Given the description of an element on the screen output the (x, y) to click on. 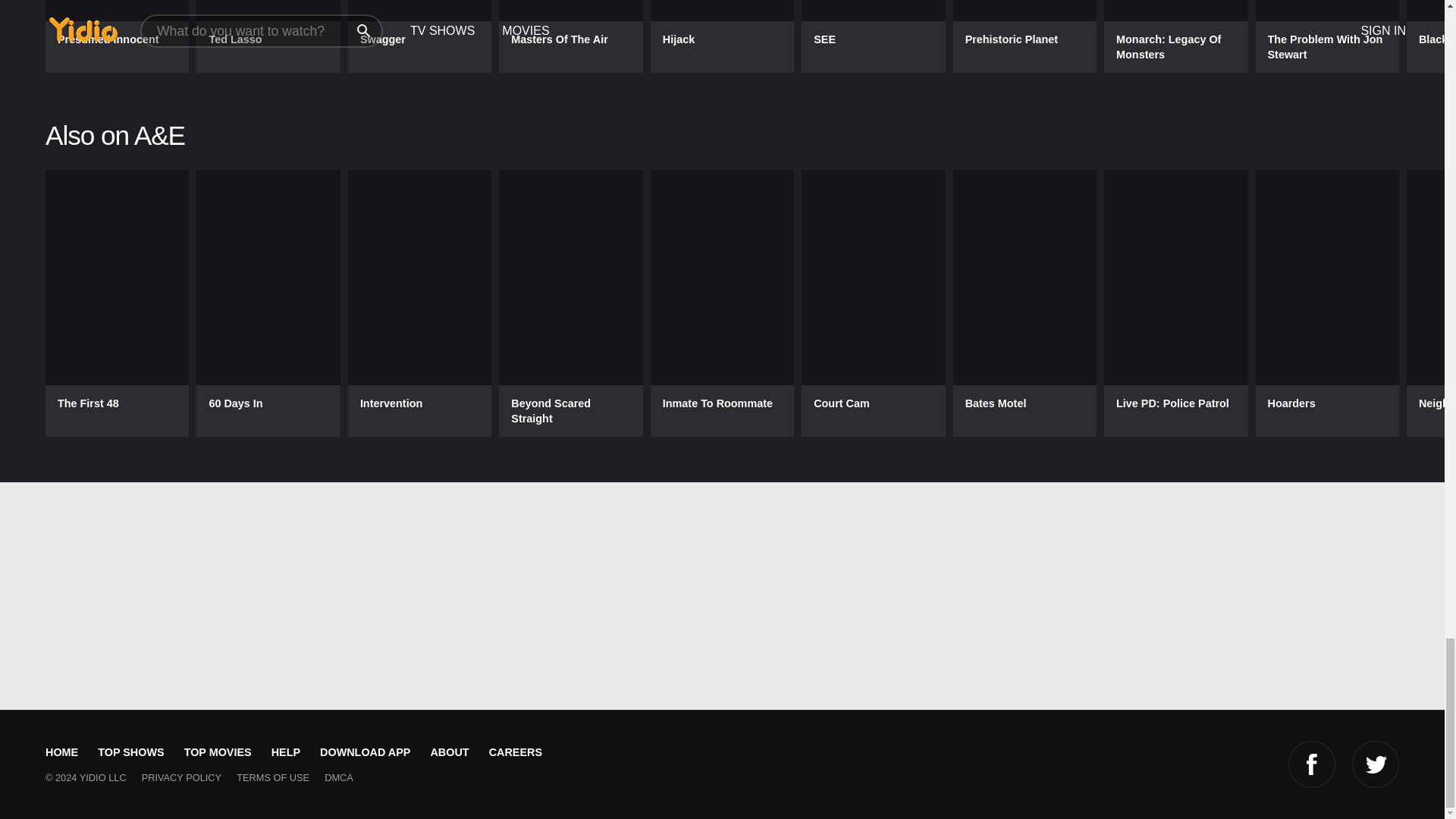
Prehistoric Planet (1024, 36)
Presumed Innocent (117, 36)
Ted Lasso (267, 36)
SEE (873, 36)
Monarch: Legacy Of Monsters (1175, 36)
Masters Of The Air (570, 36)
Hijack (721, 36)
Swagger (419, 36)
